Given the description of an element on the screen output the (x, y) to click on. 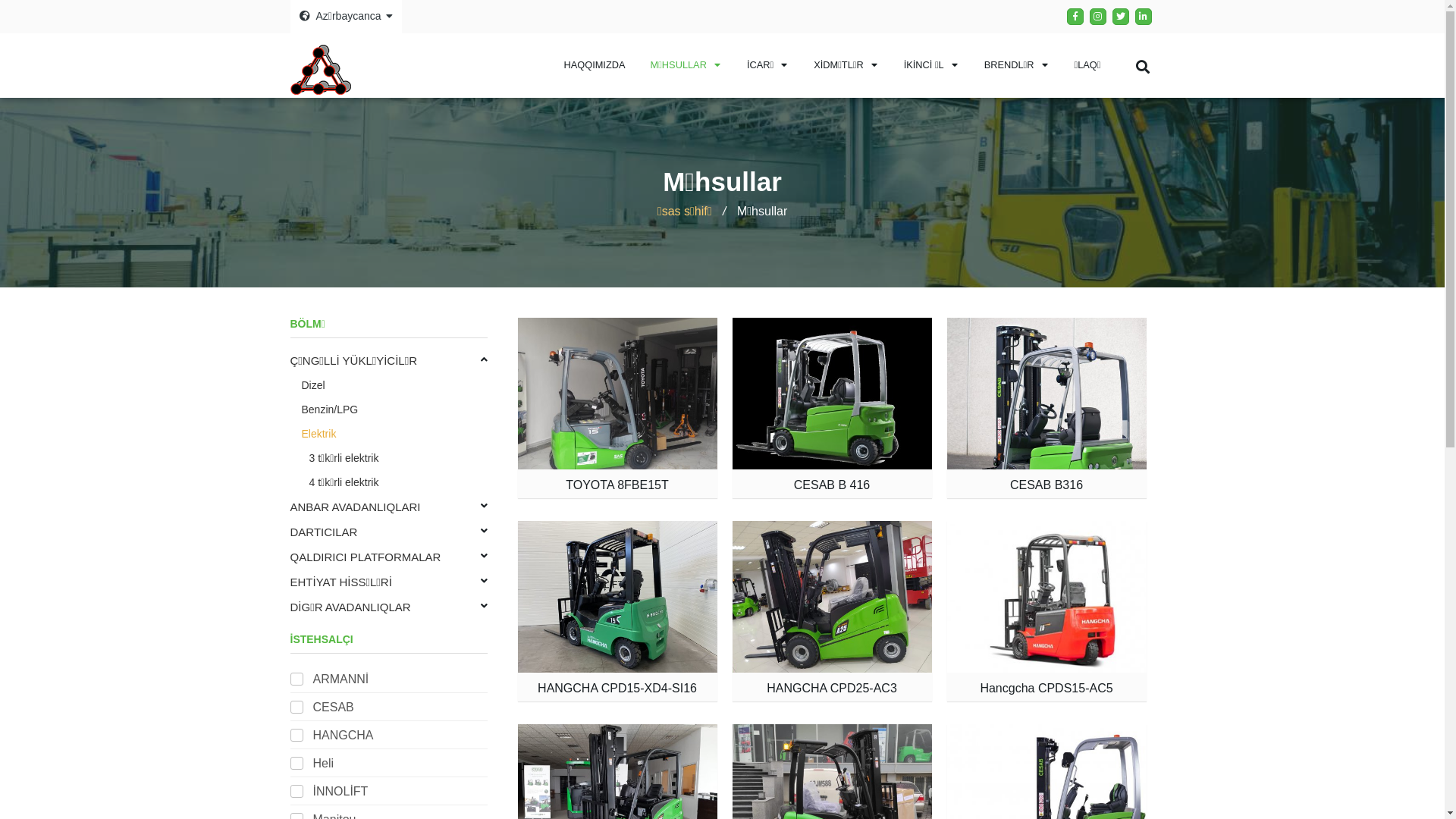
TOYOTA 8FBE15T Element type: text (616, 484)
CESAB B 416 Element type: text (831, 484)
ANBAR AVADANLIQLARI Element type: text (387, 506)
DARTICILAR Element type: text (387, 531)
CESAB B316 Element type: text (1046, 484)
Benzin/LPG Element type: text (394, 409)
QALDIRICI PLATFORMALAR Element type: text (387, 556)
HAQQIMIZDA Element type: text (593, 65)
HANGCHA CPD25-AC3 Element type: text (831, 687)
HANGCHA CPD15-XD4-SI16 Element type: text (616, 687)
Dizel Element type: text (394, 385)
Hancgcha CPDS15-AC5 Element type: text (1045, 687)
Elektrik Element type: text (394, 433)
